Given the description of an element on the screen output the (x, y) to click on. 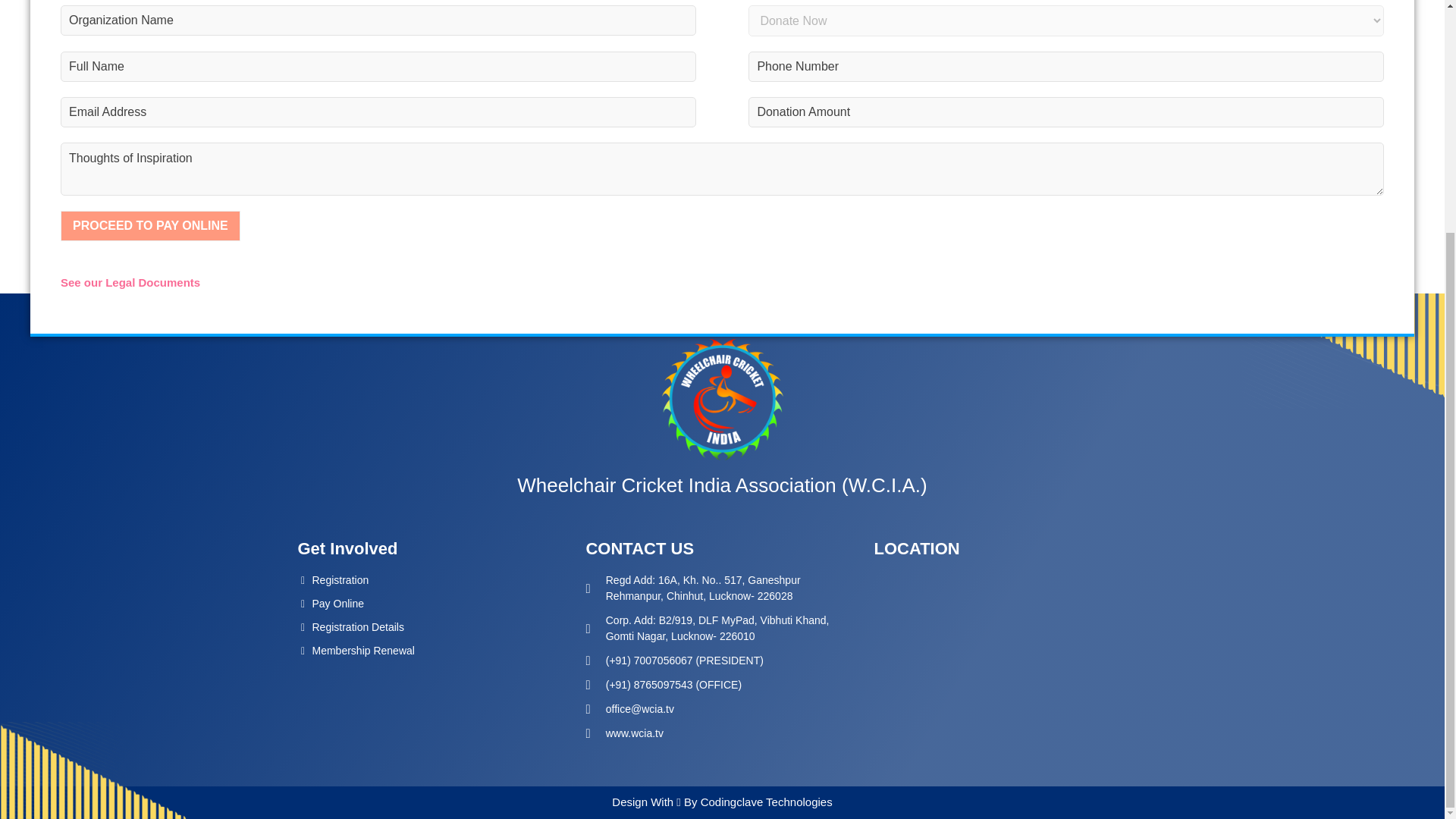
Registration Details (350, 630)
PROCEED TO PAY ONLINE (150, 225)
 Codingclave Technologies (764, 801)
See our Legal Documents (130, 282)
Registration (332, 584)
Membership Renewal (355, 654)
Pay Online (329, 607)
www.wcia.tv (623, 733)
WHEELCHAIR CRICKET INDIA lucknow (1010, 660)
